Given the description of an element on the screen output the (x, y) to click on. 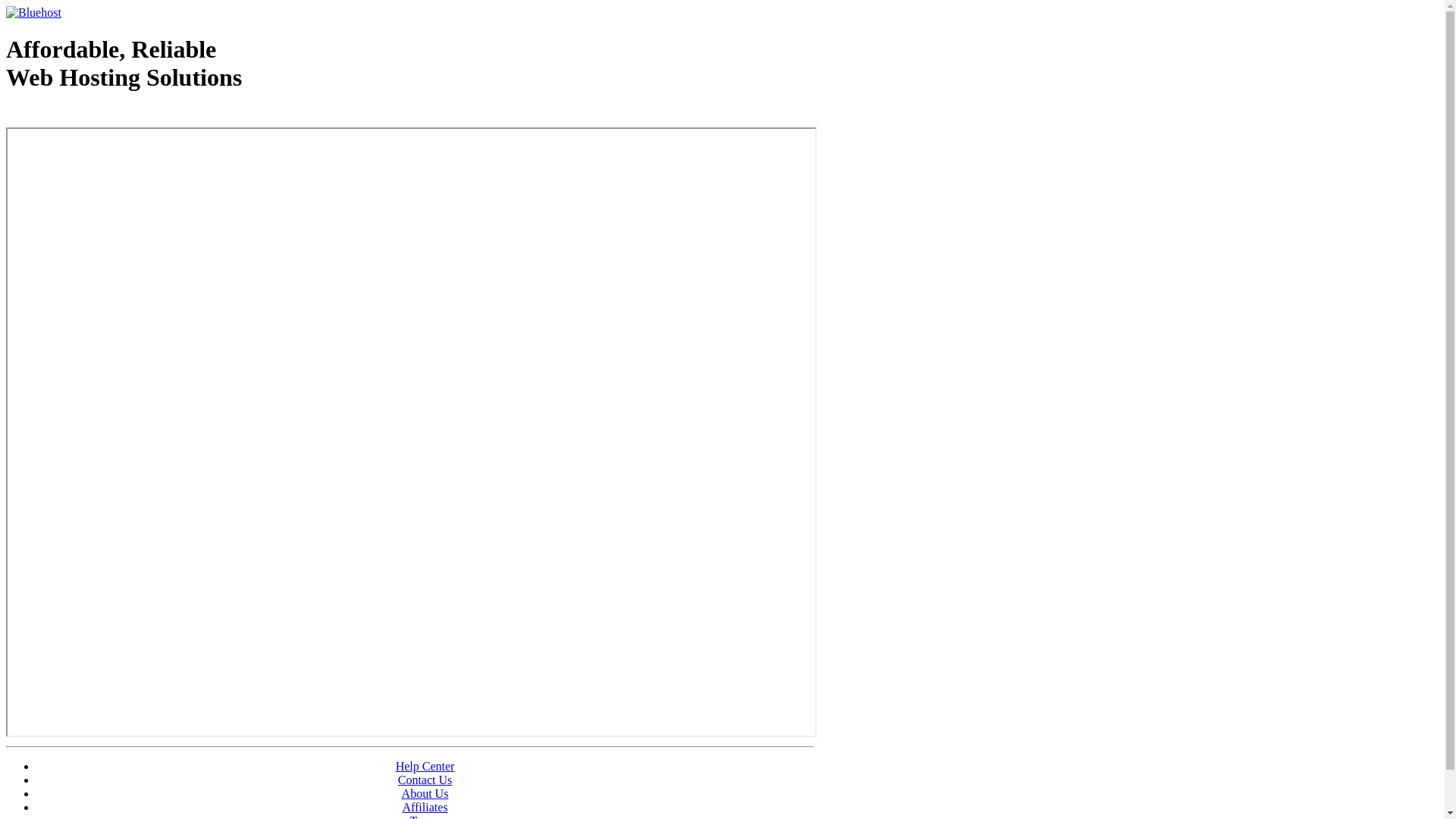
Contact Us Element type: text (425, 779)
Affiliates Element type: text (424, 806)
About Us Element type: text (424, 793)
Web Hosting - courtesy of www.bluehost.com Element type: text (94, 115)
Help Center Element type: text (425, 765)
